Given the description of an element on the screen output the (x, y) to click on. 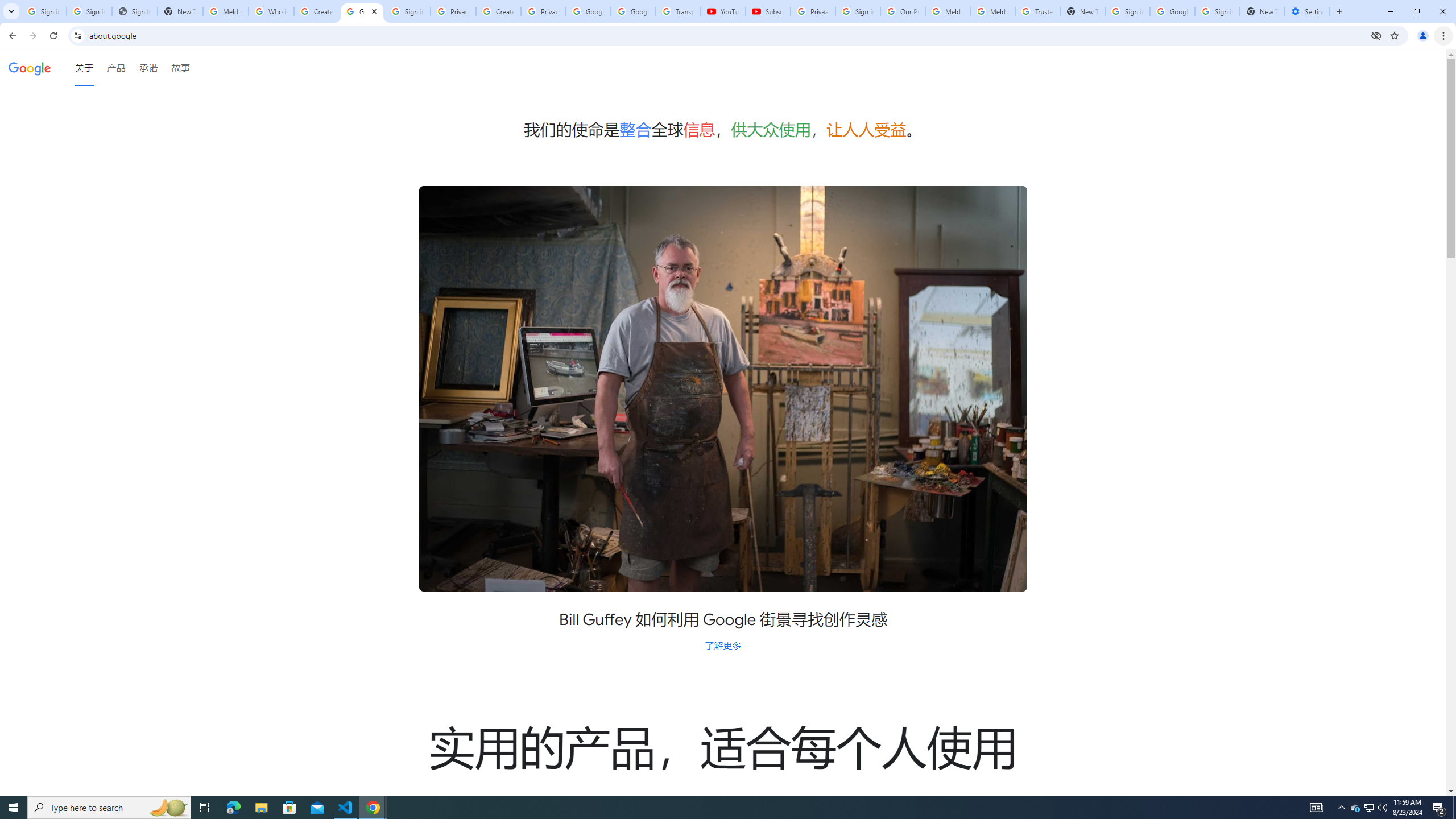
Create your Google Account (497, 11)
Settings - Addresses and more (1307, 11)
Sign in - Google Accounts (1126, 11)
Who is my administrator? - Google Account Help (270, 11)
Sign in - Google Accounts (88, 11)
Google Account (633, 11)
